Given the description of an element on the screen output the (x, y) to click on. 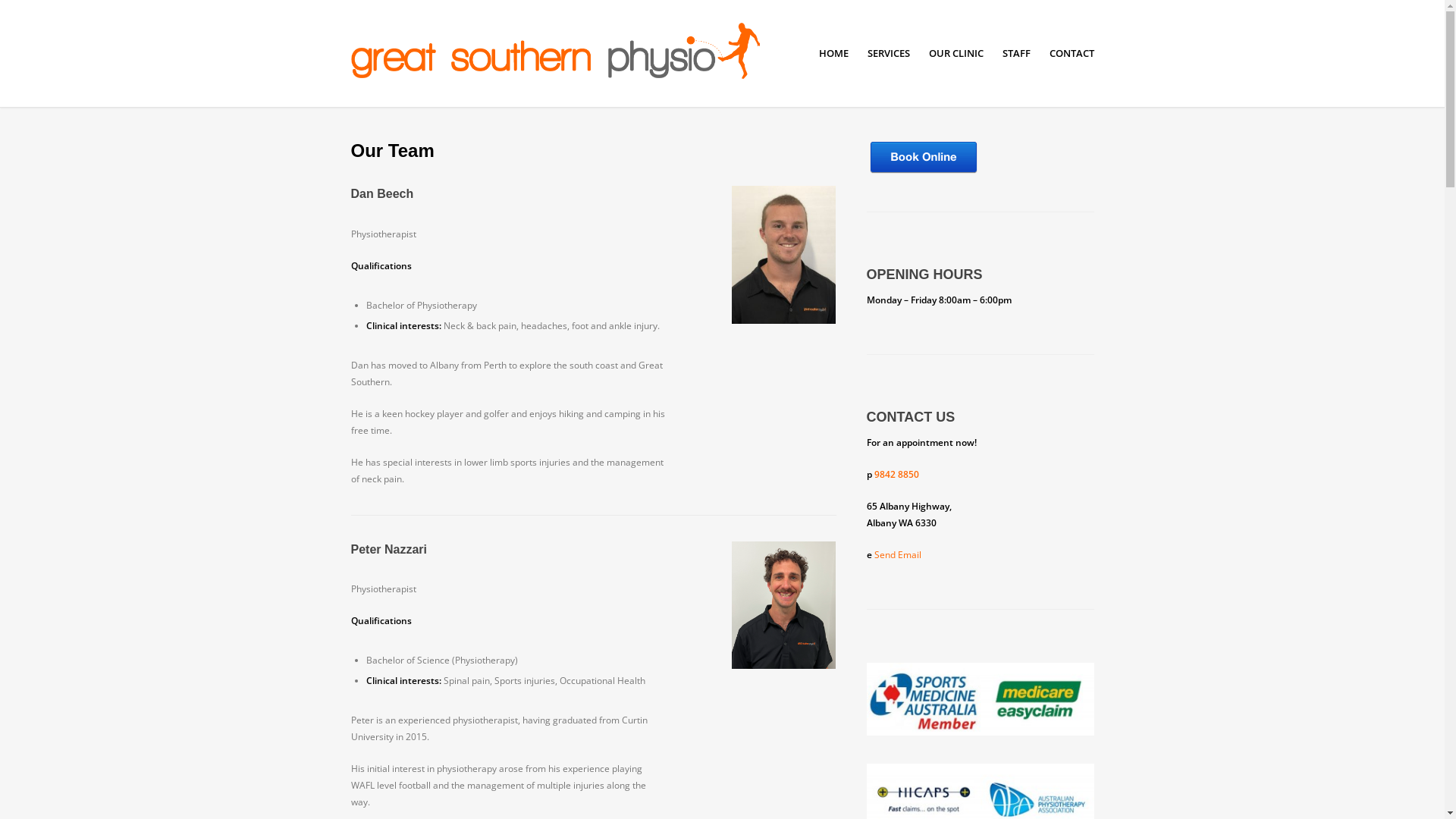
Great Southern Physio Element type: hover (721, 53)
STAFF Element type: text (1016, 52)
Send Email Element type: text (896, 554)
SERVICES Element type: text (888, 52)
9842 8850 Element type: text (895, 473)
Book Online Element type: hover (922, 172)
OUR CLINIC Element type: text (955, 52)
CONTACT Element type: text (1071, 52)
HOME Element type: text (833, 52)
